Given the description of an element on the screen output the (x, y) to click on. 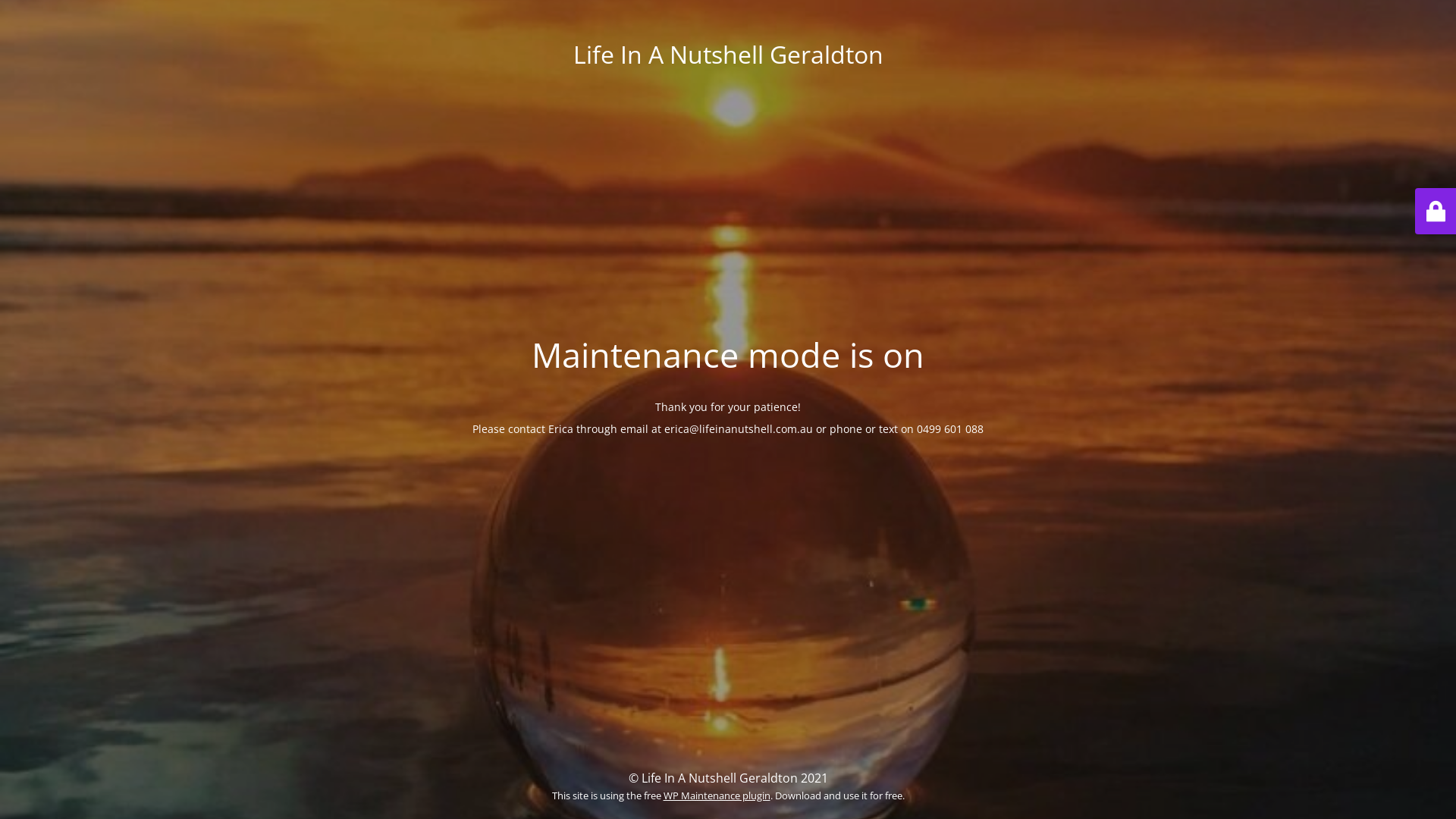
WP Maintenance plugin Element type: text (715, 795)
